Given the description of an element on the screen output the (x, y) to click on. 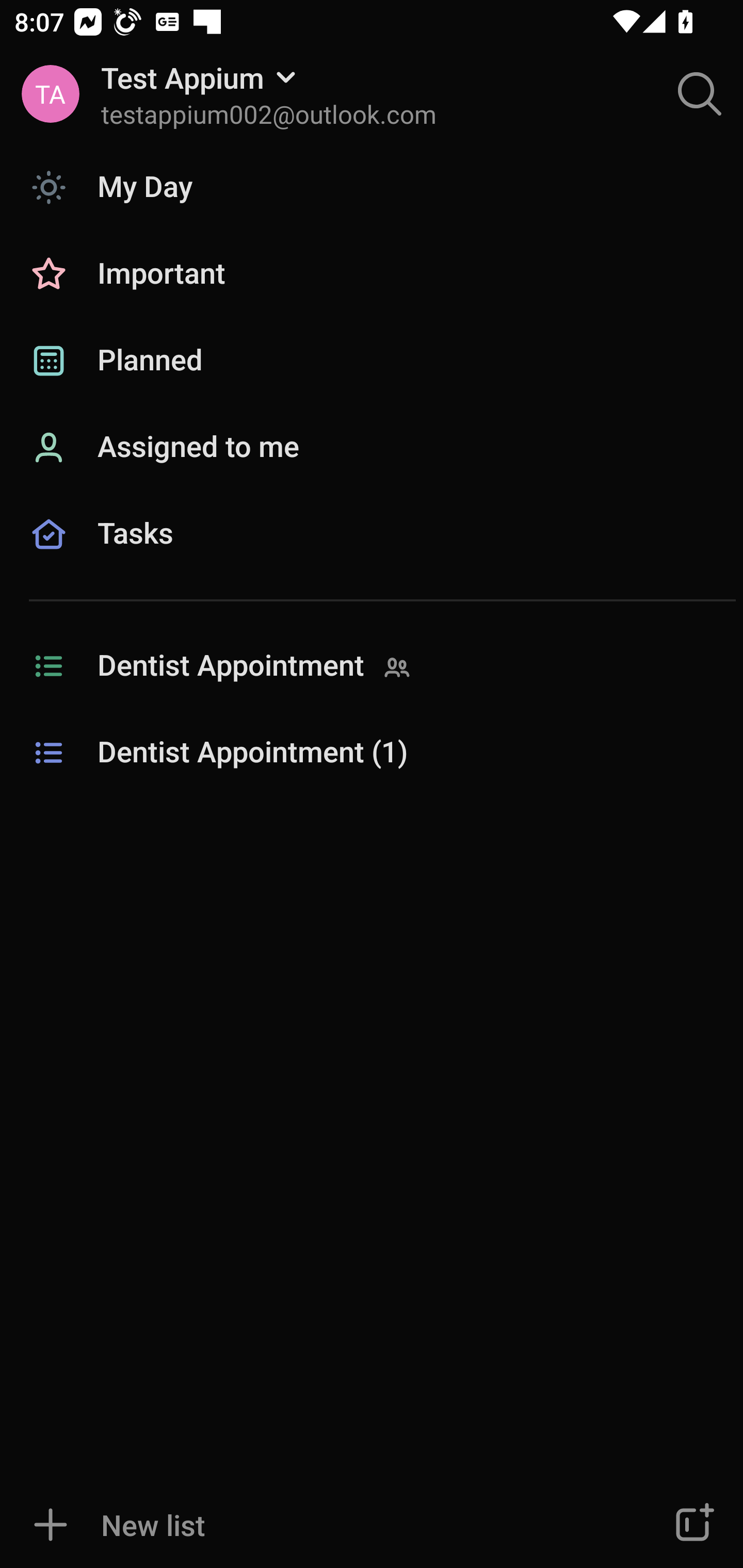
Enter search (699, 93)
My Day, 0 tasks My Day (371, 187)
Important, 0 tasks Important (371, 274)
Planned, 0 tasks Planned (371, 361)
Assigned to me, 0 tasks Assigned to me (371, 447)
Tasks (371, 556)
Dentist Appointment (1) (371, 753)
New list (312, 1524)
Create group (692, 1524)
